Given the description of an element on the screen output the (x, y) to click on. 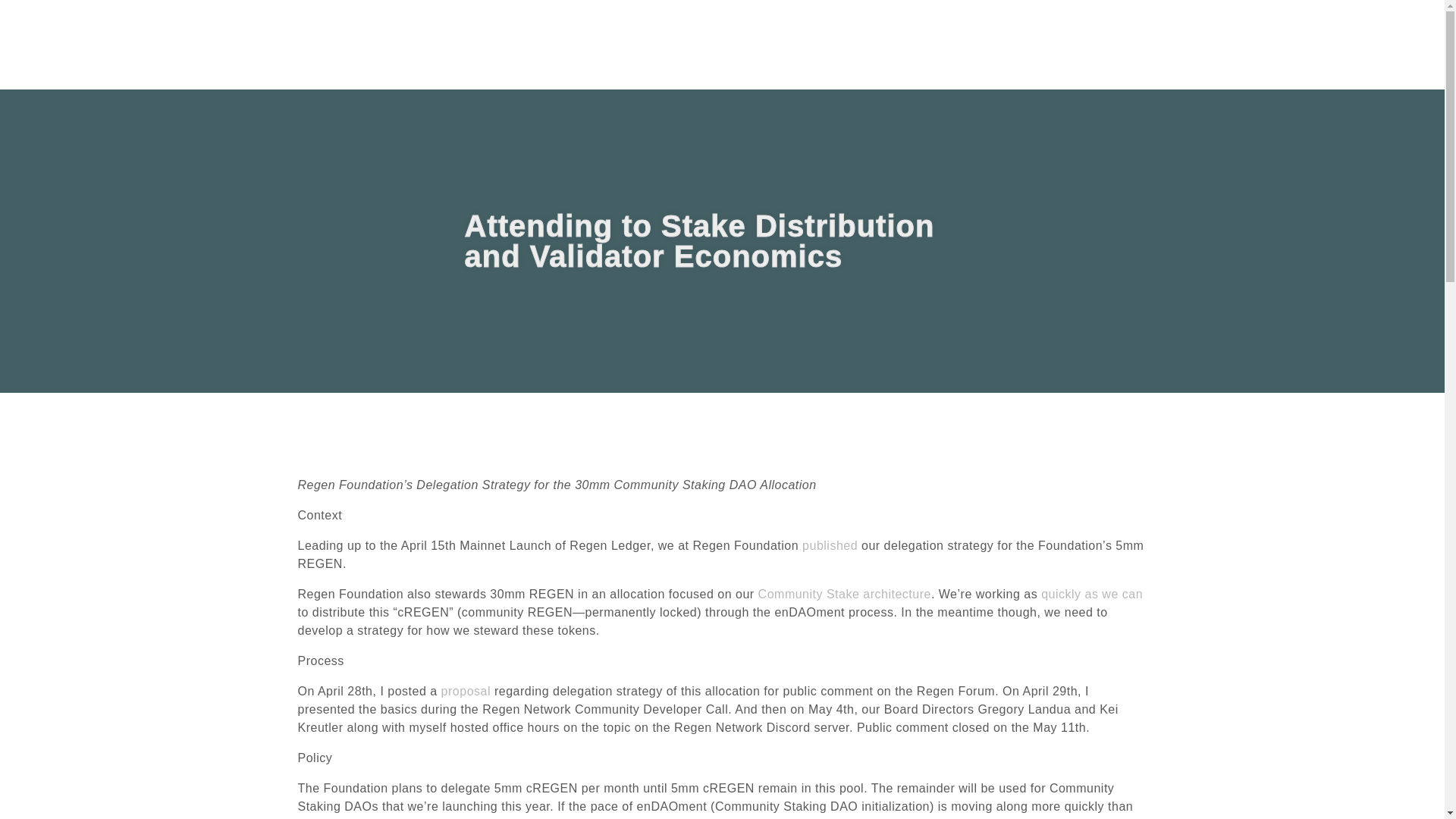
TEAM (942, 44)
DONATE (1215, 44)
POLICIES (1142, 44)
HOME (792, 44)
published (829, 545)
ENDAOMENT (868, 44)
CONTACT (1067, 44)
proposal (465, 690)
BLOG (1000, 44)
Community Stake architecture (844, 594)
quickly as we can (1091, 594)
